Given the description of an element on the screen output the (x, y) to click on. 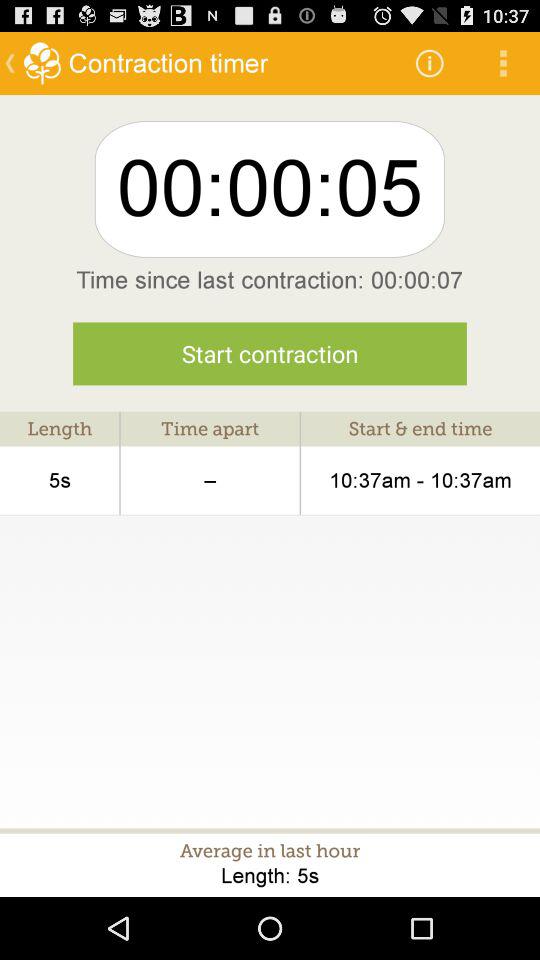
open the icon next to the time apart (420, 480)
